Given the description of an element on the screen output the (x, y) to click on. 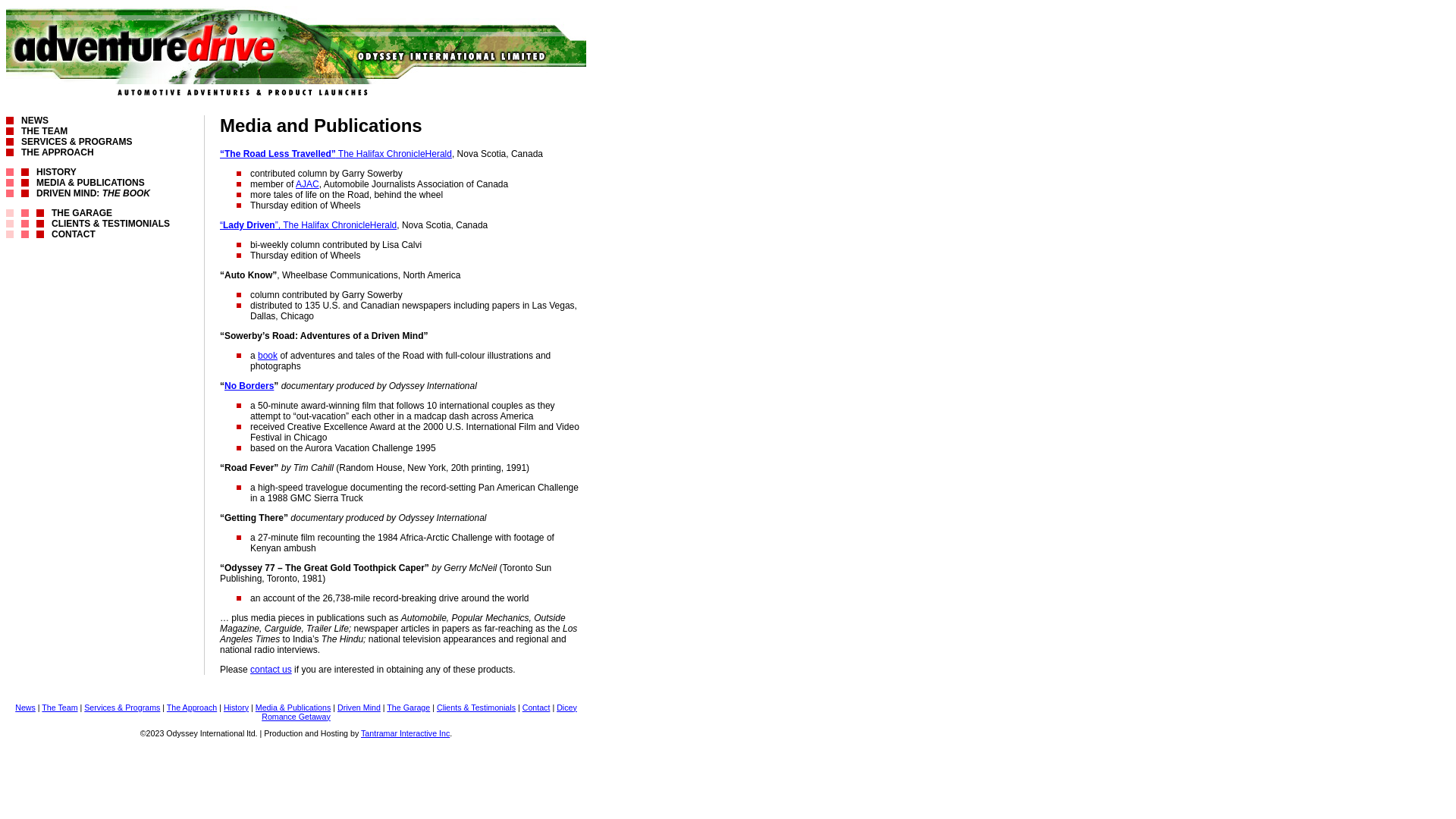
Driven Mind Element type: text (358, 707)
HISTORY Element type: text (56, 171)
The Garage Element type: text (407, 707)
CONTACT Element type: text (73, 234)
Tantramar Interactive Inc Element type: text (404, 732)
contact us Element type: text (270, 669)
book Element type: text (267, 355)
Clients & Testimonials Element type: text (475, 707)
Contact Element type: text (536, 707)
The Approach Element type: text (191, 707)
DRIVEN MIND: THE BOOK Element type: text (93, 193)
THE APPROACH Element type: text (57, 152)
CLIENTS & TESTIMONIALS Element type: text (110, 223)
SERVICES & PROGRAMS Element type: text (76, 141)
Dicey Romance Getaway Element type: text (419, 711)
No Borders Element type: text (248, 385)
THE TEAM Element type: text (44, 130)
NEWS Element type: text (34, 120)
Media & Publications Element type: text (293, 707)
MEDIA & PUBLICATIONS Element type: text (90, 182)
History Element type: text (235, 707)
AJAC Element type: text (307, 183)
The Team Element type: text (59, 707)
Services & Programs Element type: text (122, 707)
THE GARAGE Element type: text (81, 212)
News Element type: text (25, 707)
